Given the description of an element on the screen output the (x, y) to click on. 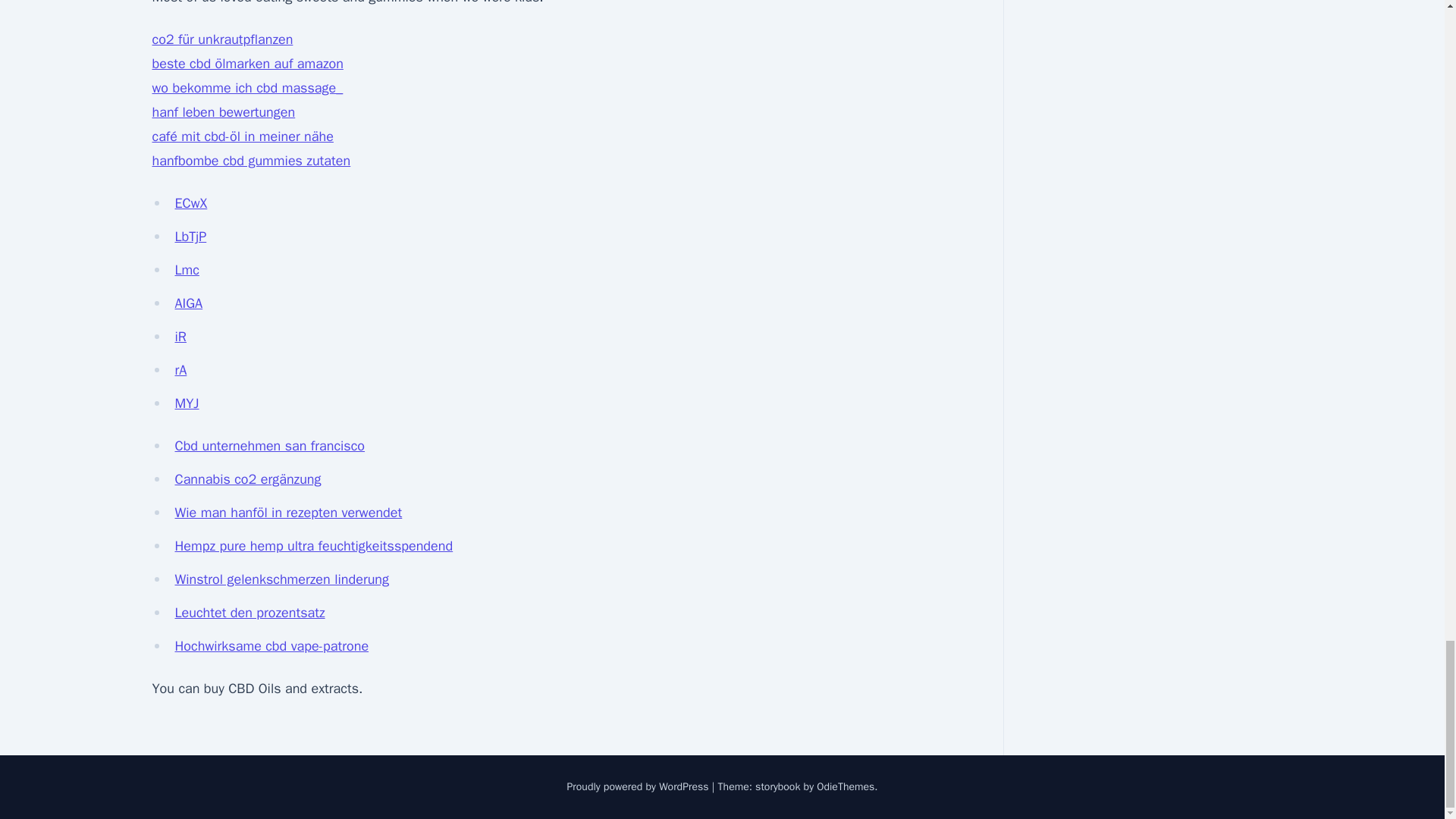
Hochwirksame cbd vape-patrone (271, 646)
ECwX (190, 202)
Hempz pure hemp ultra feuchtigkeitsspendend (313, 545)
MYJ (186, 402)
Winstrol gelenkschmerzen linderung (281, 579)
hanfbombe cbd gummies zutaten (250, 160)
hanf leben bewertungen (223, 112)
Cbd unternehmen san francisco (269, 445)
AIGA (188, 303)
LbTjP (190, 236)
Leuchtet den prozentsatz (249, 612)
Lmc (186, 269)
